Given the description of an element on the screen output the (x, y) to click on. 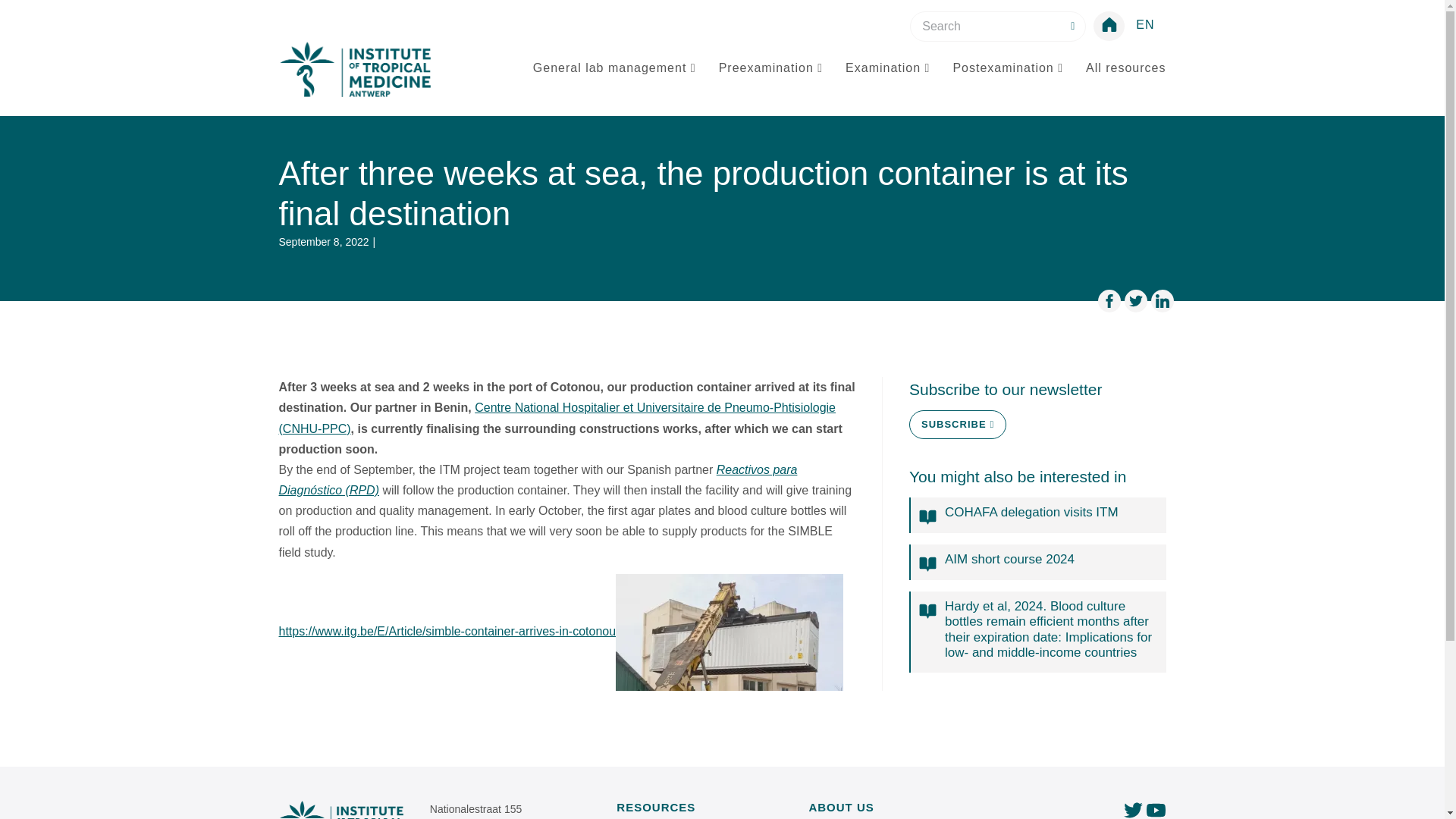
All resources (1126, 68)
Postexamination (1007, 68)
Preexamination (770, 68)
General lab management (613, 68)
EN (1145, 24)
ITM LabHub (354, 69)
Examination (887, 68)
EN (1145, 24)
